Given the description of an element on the screen output the (x, y) to click on. 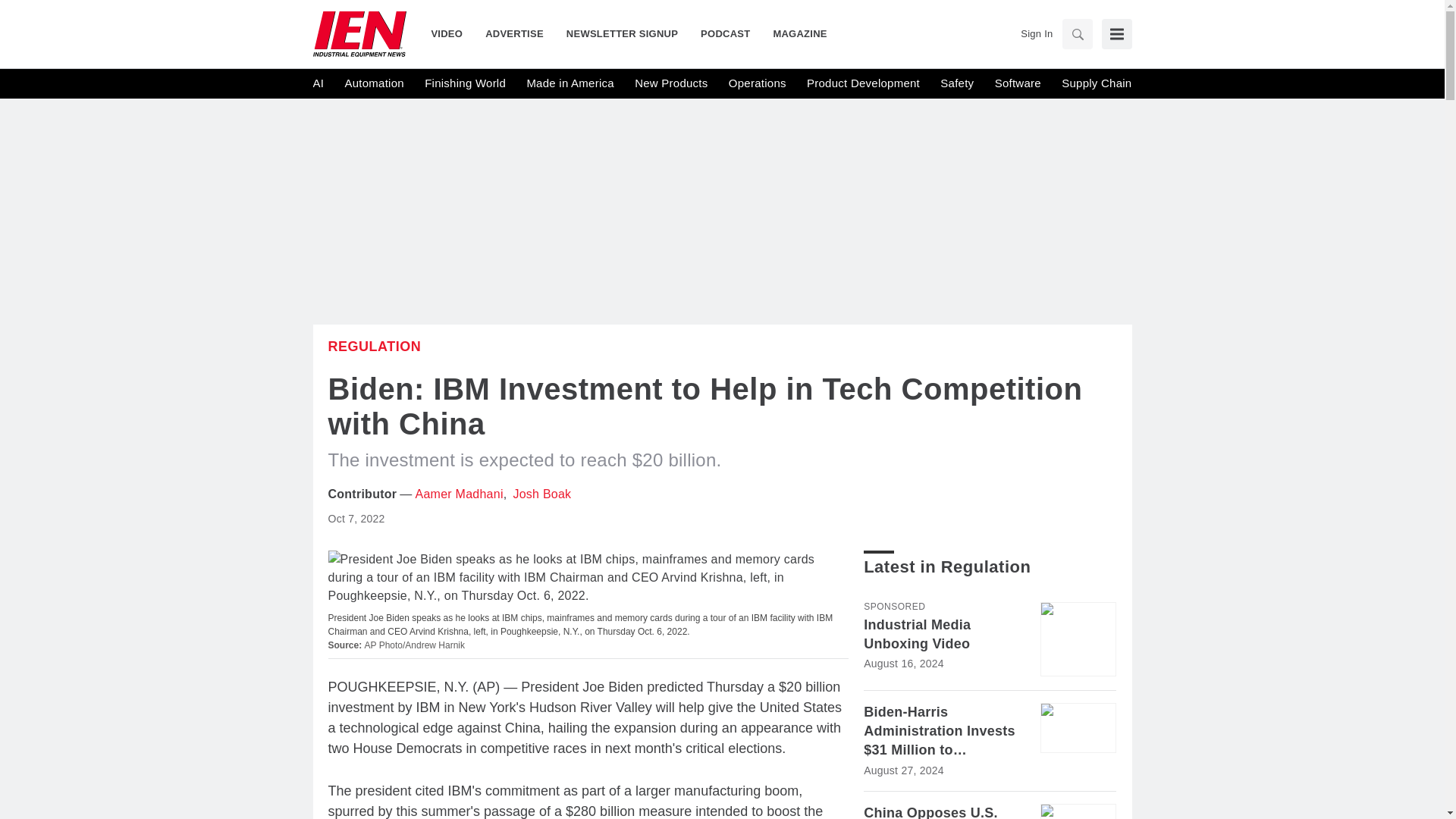
Made in America (568, 83)
Sponsored (893, 605)
ADVERTISE (514, 33)
Supply Chain (1096, 83)
PODCAST (724, 33)
Safety (957, 83)
Automation (373, 83)
Finishing World (465, 83)
Regulation (373, 346)
Sign In (1036, 33)
